Given the description of an element on the screen output the (x, y) to click on. 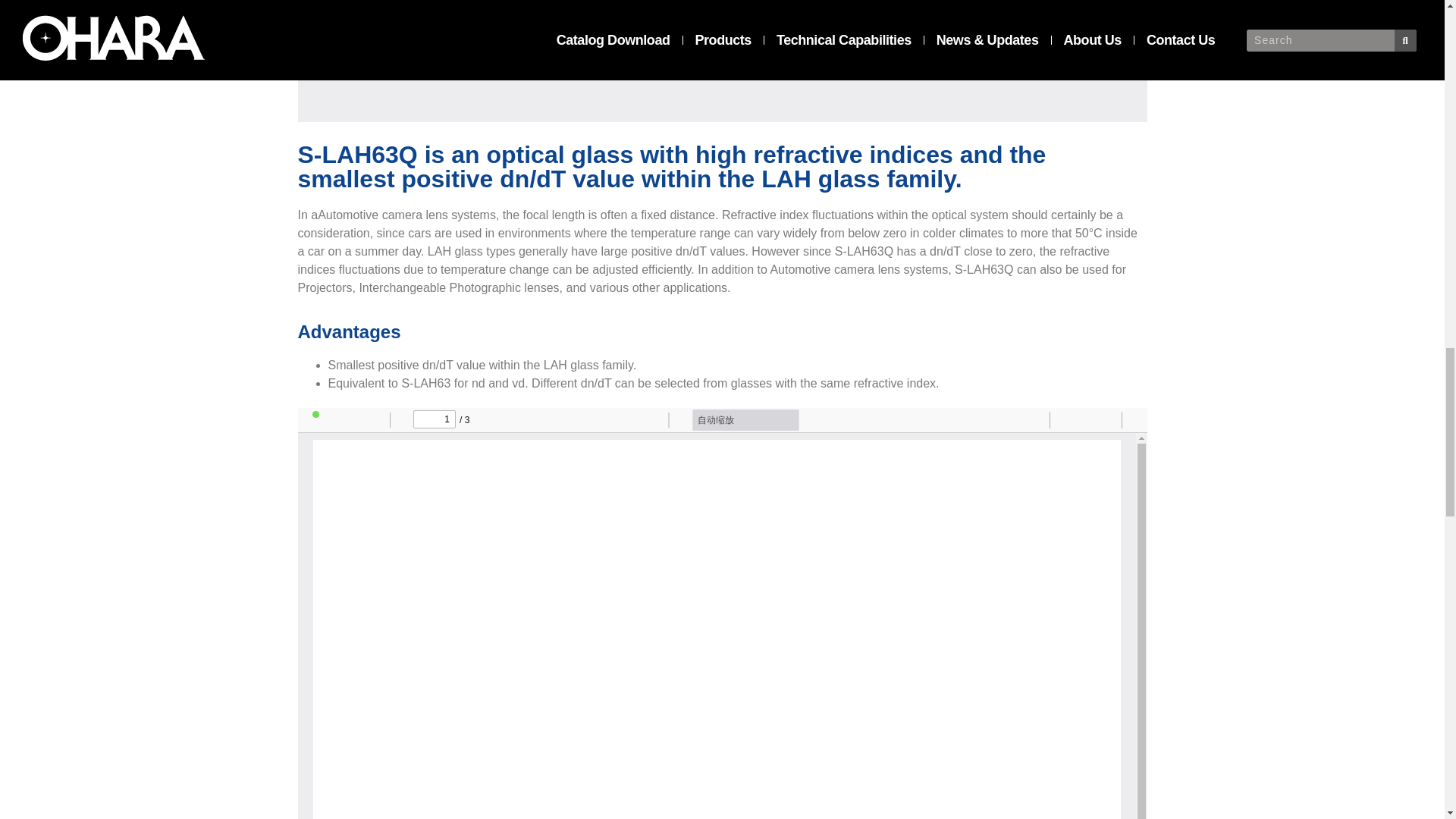
S-LAH63Q Glass Datasheet (722, 61)
